Given the description of an element on the screen output the (x, y) to click on. 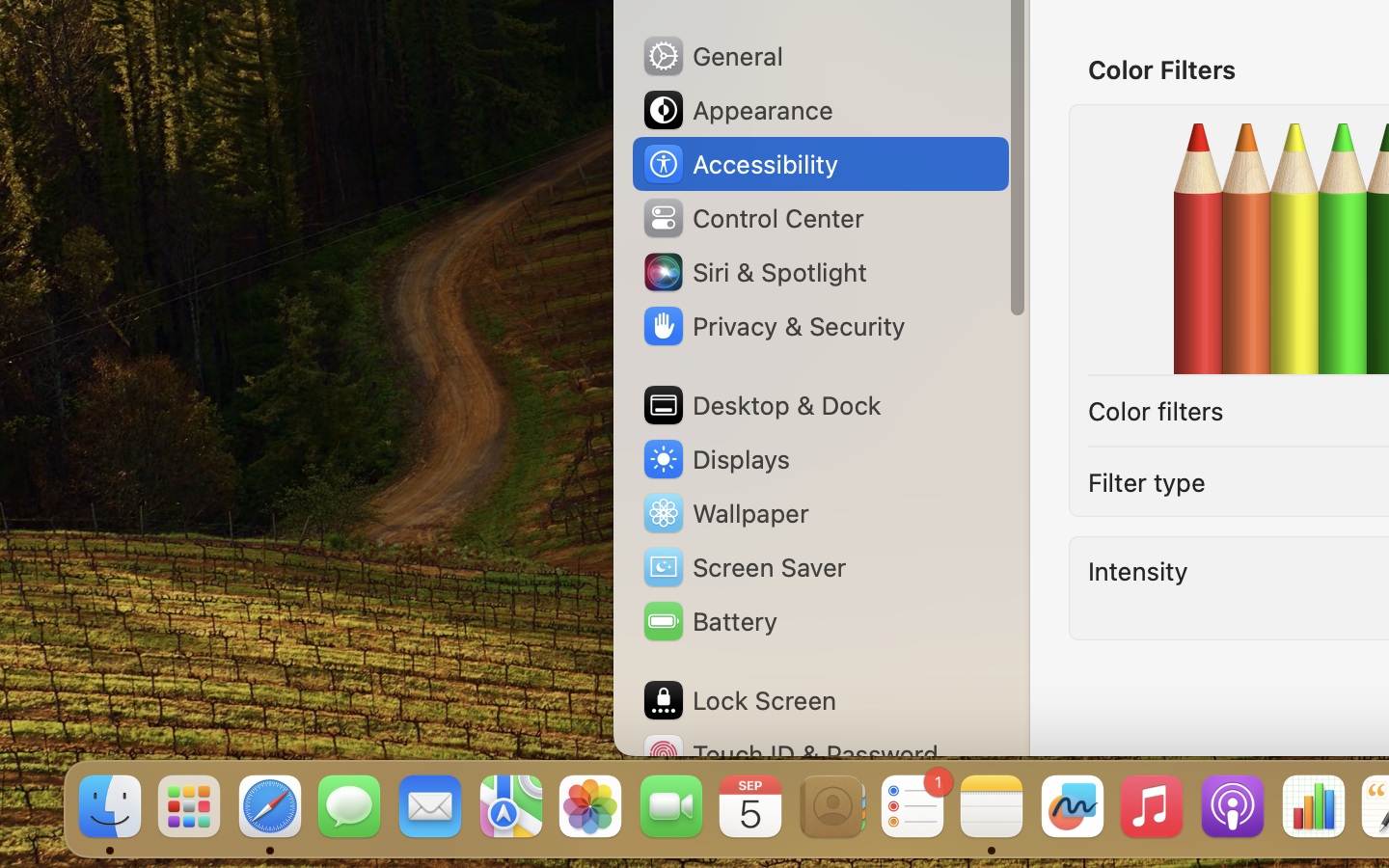
General Element type: AXStaticText (711, 55)
Intensity Element type: AXStaticText (1138, 570)
Battery Element type: AXStaticText (708, 620)
Desktop & Dock Element type: AXStaticText (760, 404)
Screen Saver Element type: AXStaticText (743, 566)
